Given the description of an element on the screen output the (x, y) to click on. 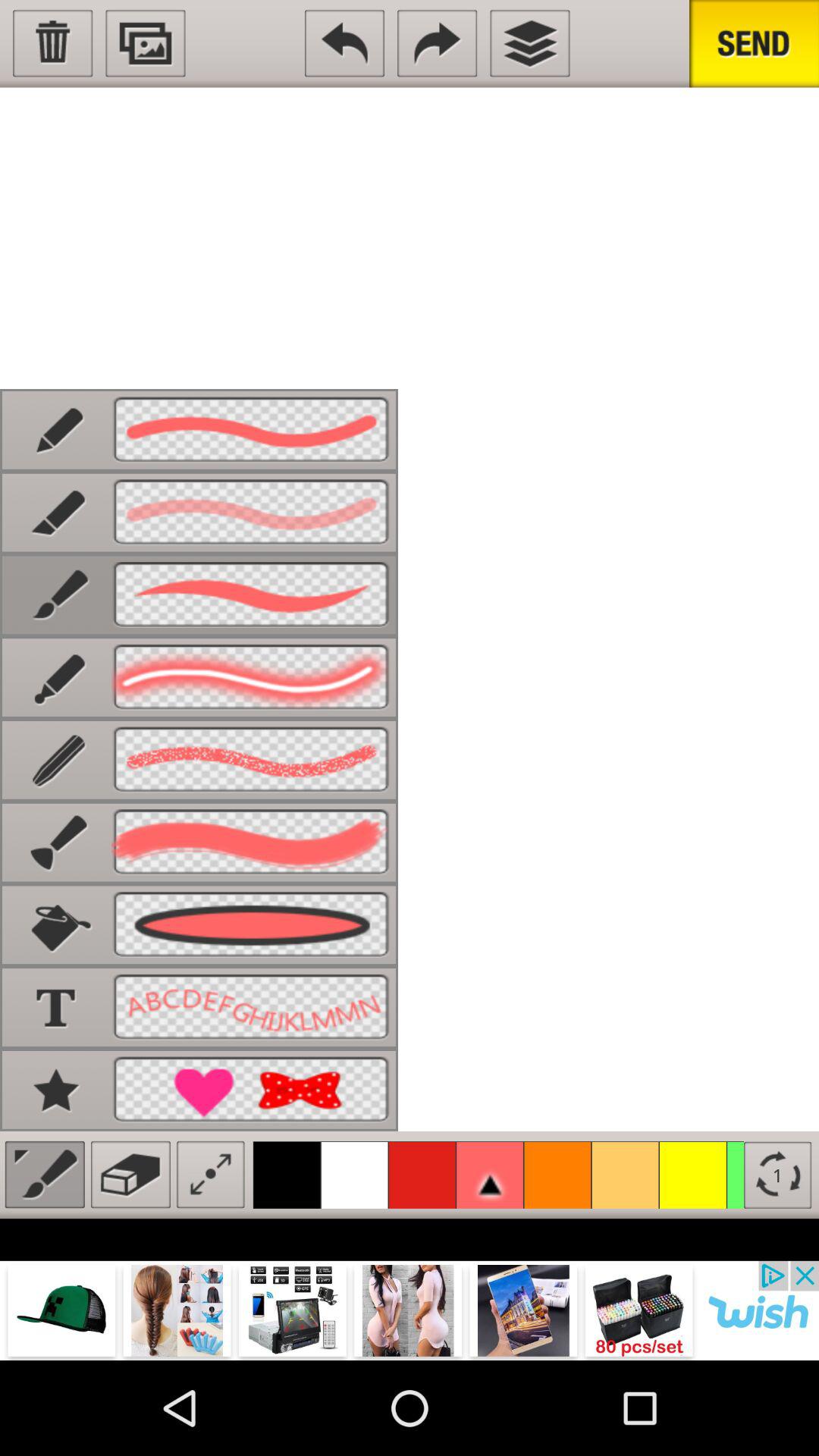
add photo (145, 43)
